Given the description of an element on the screen output the (x, y) to click on. 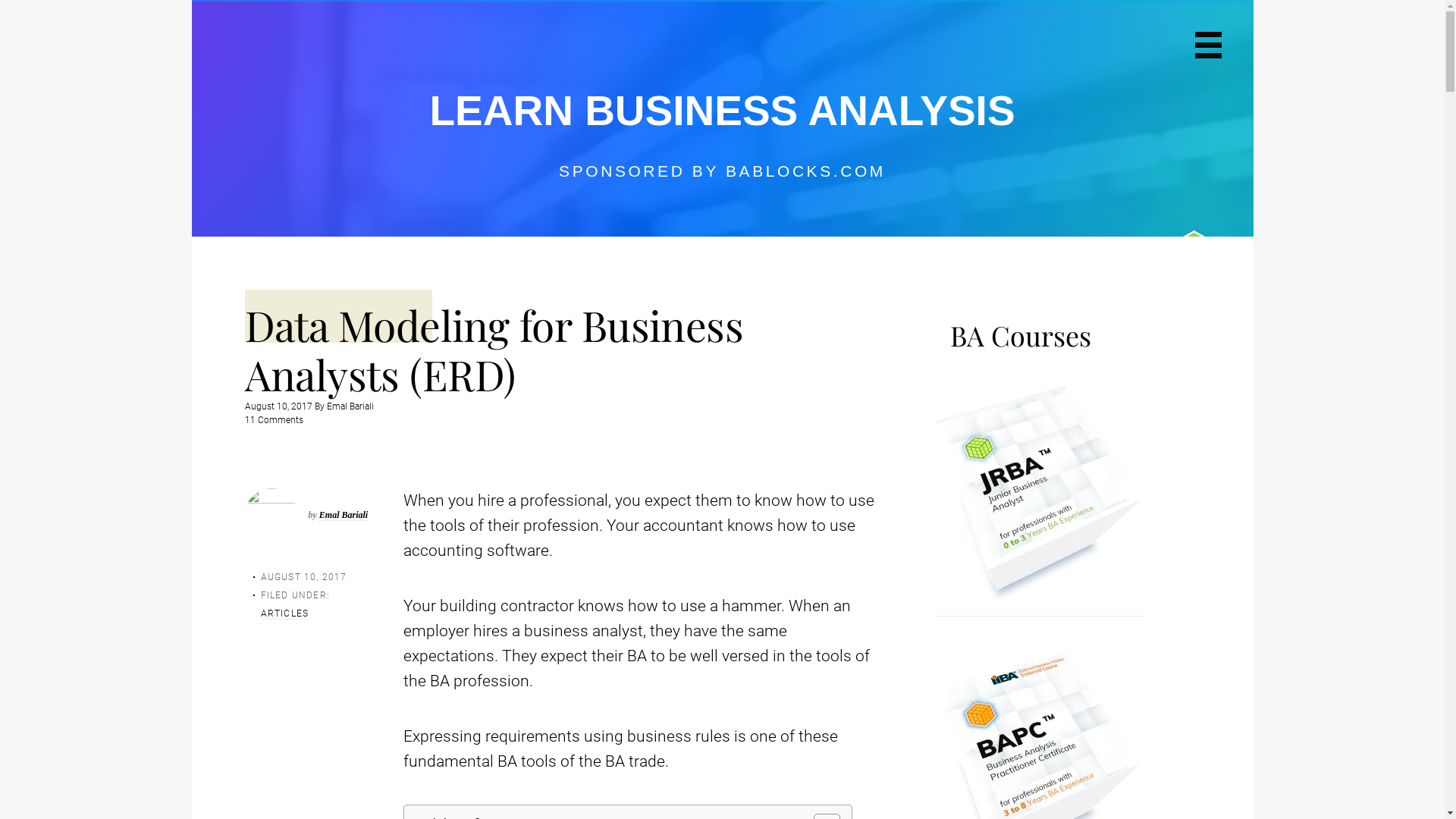
11 Comments Element type: text (273, 419)
AUGUST 10, 2017 Element type: text (303, 576)
Primary Navigation Menu Element type: text (1208, 44)
Skip to primary navigation Element type: text (191, 0)
Emal Bariali Element type: text (343, 514)
ARTICLES Element type: text (284, 613)
LEARN BUSINESS ANALYSIS Element type: text (721, 110)
JRBA Block Final-min1 - Learn Business Analysis Element type: hover (1038, 498)
Emal Bariali Element type: text (349, 406)
